Given the description of an element on the screen output the (x, y) to click on. 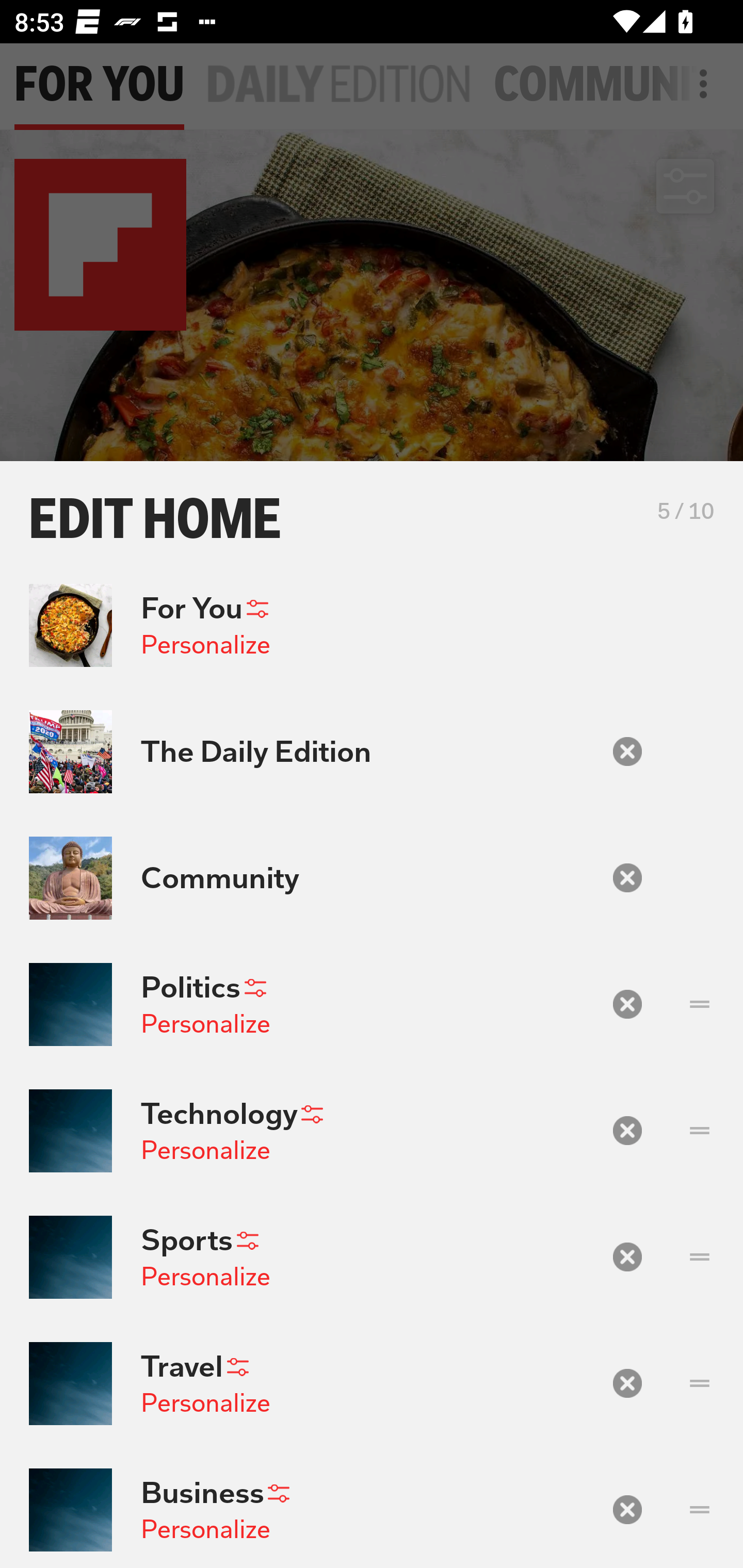
Personalize (205, 644)
Personalize (205, 1023)
Personalize (205, 1149)
Personalize (205, 1276)
Personalize (205, 1403)
Personalize (205, 1528)
